Given the description of an element on the screen output the (x, y) to click on. 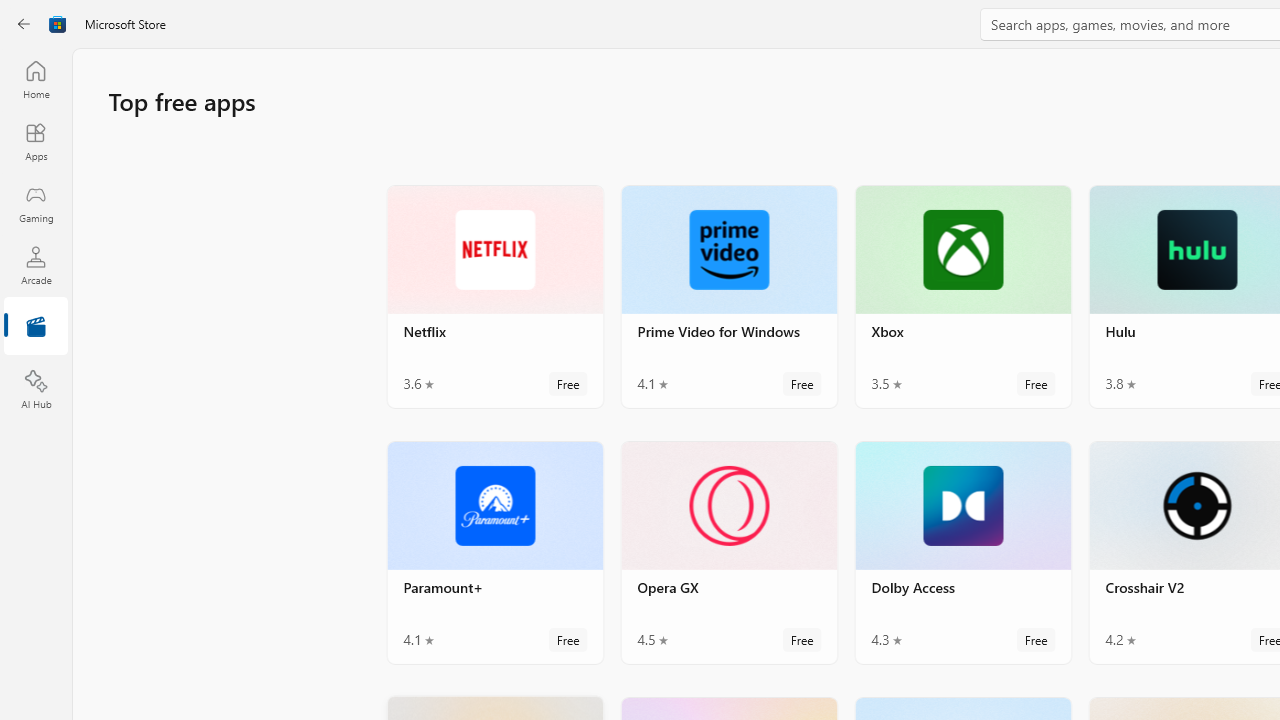
Entertainment (35, 327)
Netflix. Average rating of 3.6 out of five stars. Free   (495, 296)
AI Hub (35, 390)
Opera GX. Average rating of 4.5 out of five stars. Free   (728, 551)
Class: Image (58, 24)
Arcade (35, 265)
Gaming (35, 203)
Apps (35, 141)
Xbox. Average rating of 3.5 out of five stars. Free   (962, 296)
Paramount+. Average rating of 4.1 out of five stars. Free   (495, 551)
Home (35, 79)
Back (24, 24)
